Given the description of an element on the screen output the (x, y) to click on. 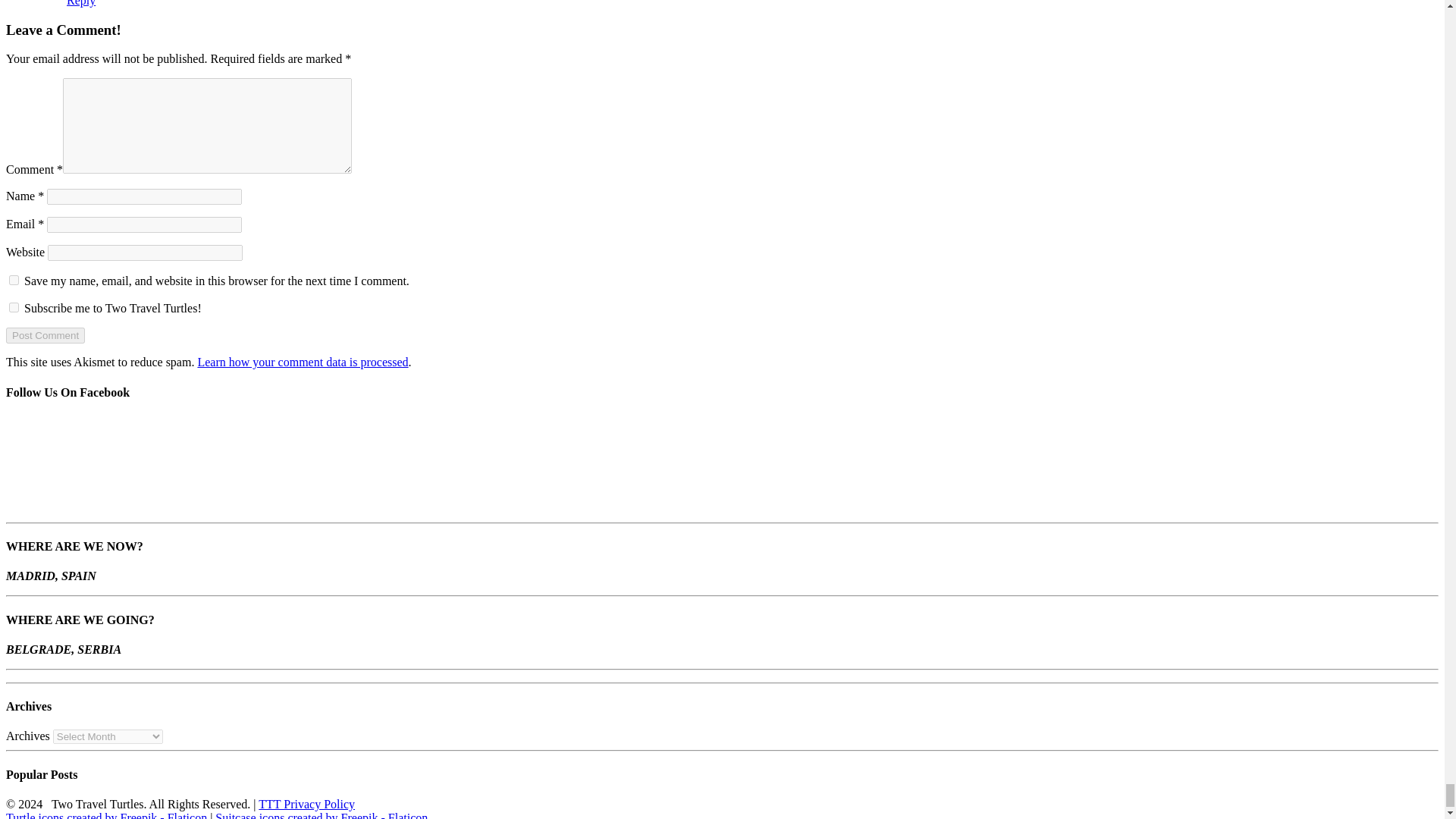
Post Comment (44, 335)
yes (13, 280)
1 (13, 307)
